Given the description of an element on the screen output the (x, y) to click on. 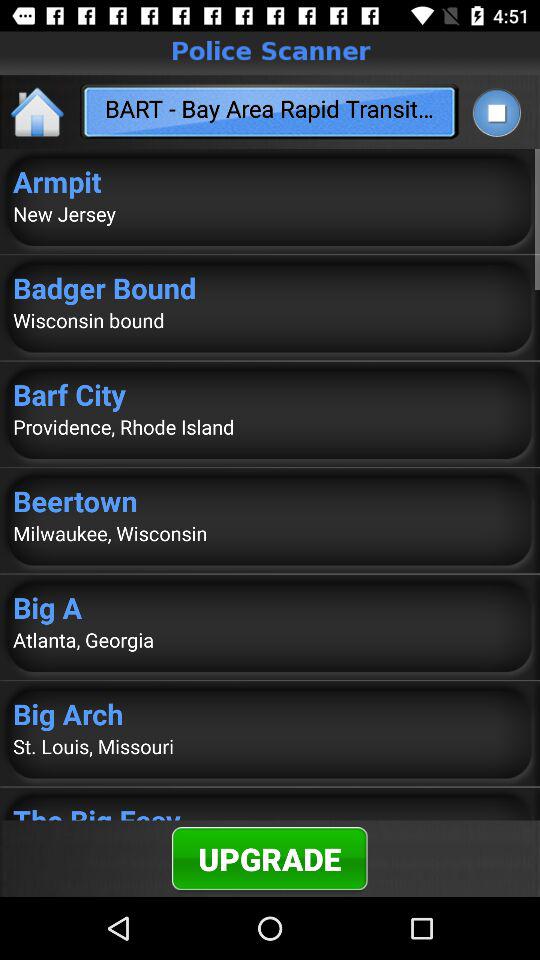
launch the item below the providence, rhode island app (269, 500)
